Given the description of an element on the screen output the (x, y) to click on. 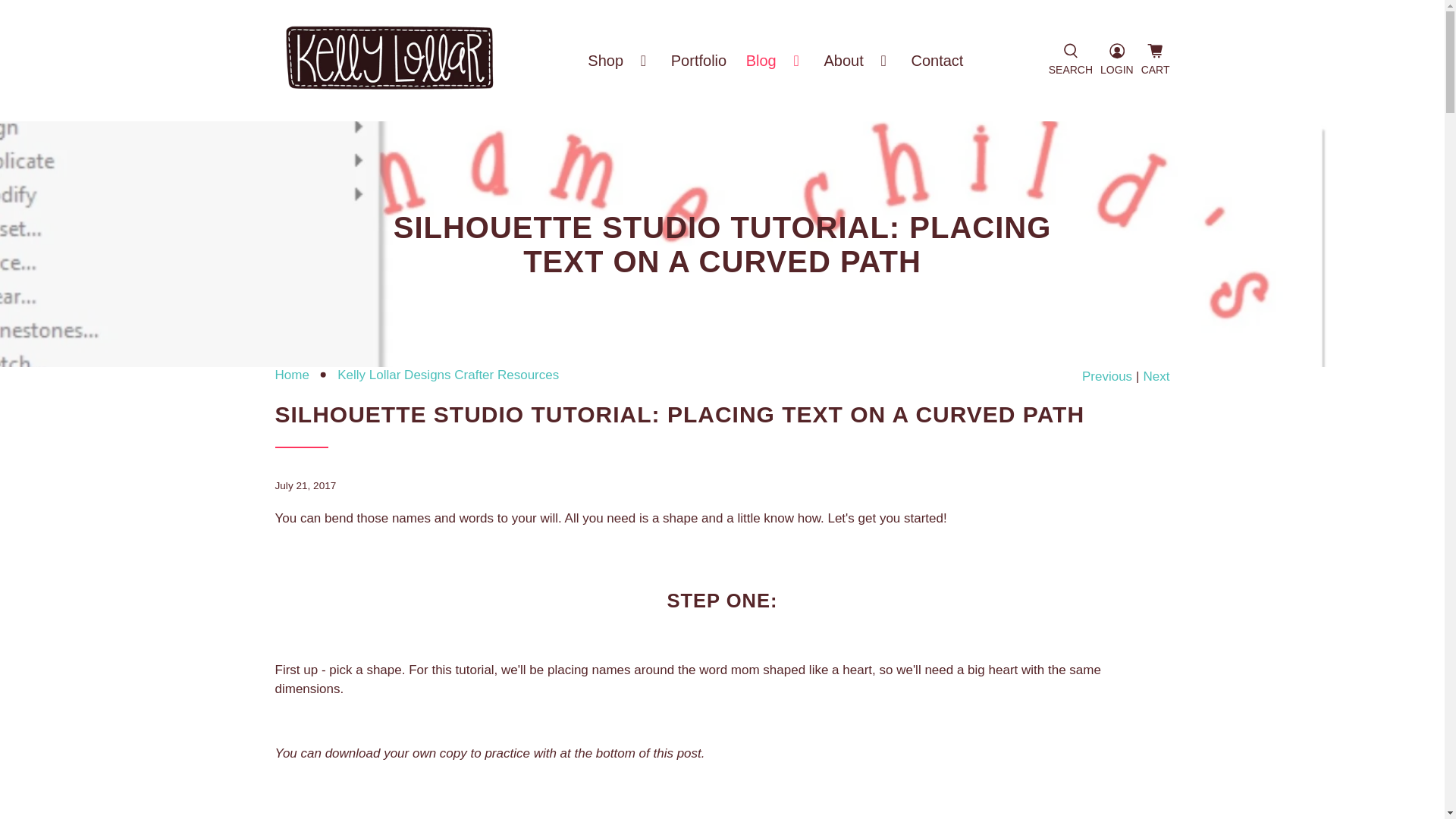
About (857, 60)
Previous (1106, 376)
Portfolio (698, 60)
Blog (774, 60)
Shop (619, 60)
Kelly Lollar Designs Crafter Resources (448, 374)
Kelly Lollar Designs (291, 374)
Next (1156, 376)
Contact (936, 60)
Kelly Lollar Designs (389, 60)
